Given the description of an element on the screen output the (x, y) to click on. 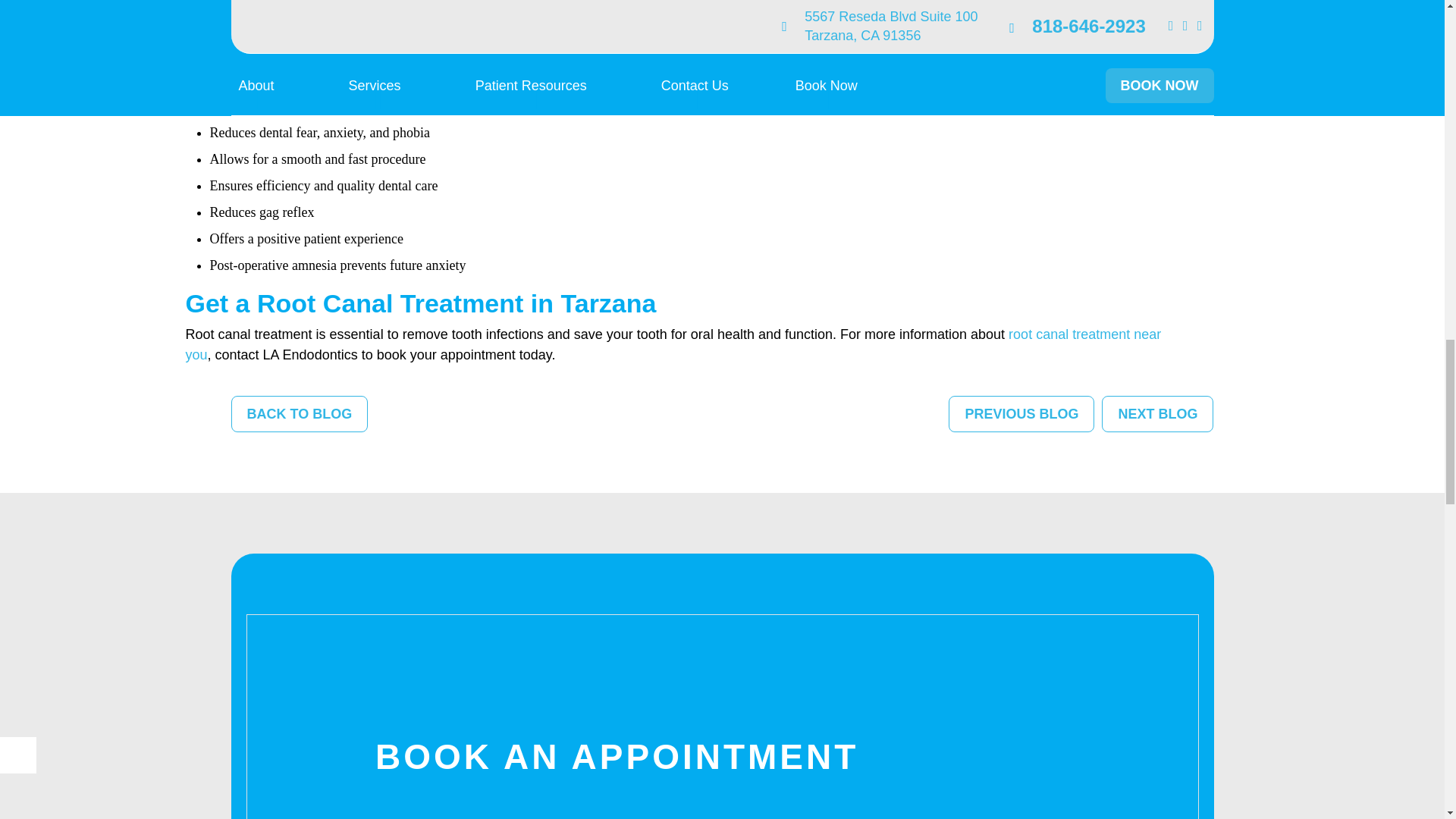
BACK TO BLOG (299, 413)
NEXT BLOG (1157, 413)
root canal treatment near you (672, 344)
PREVIOUS BLOG (1021, 413)
